Given the description of an element on the screen output the (x, y) to click on. 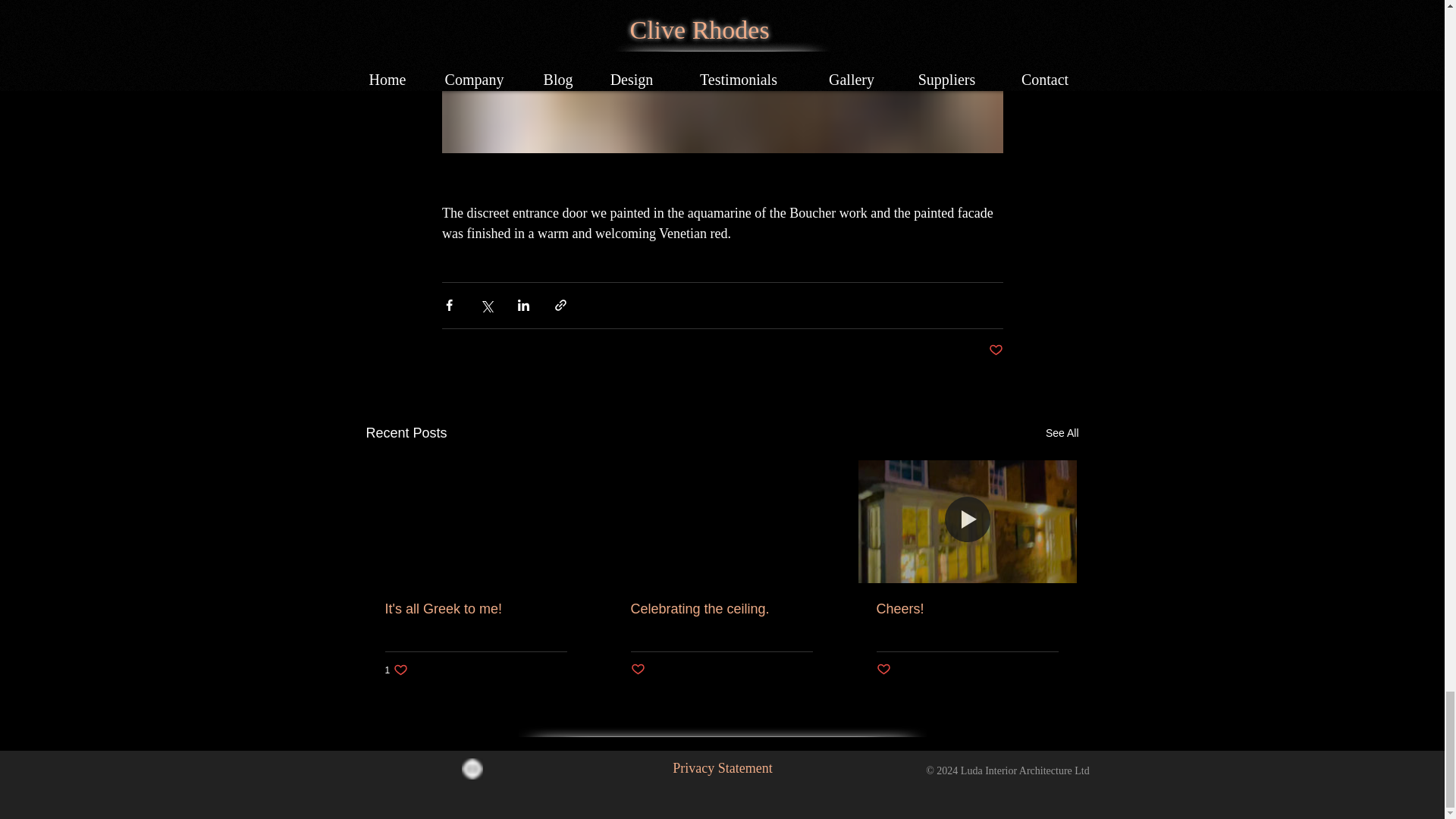
It's all Greek to me! (476, 609)
Celebrating the ceiling. (721, 609)
Privacy Statement (721, 768)
Post not marked as liked (637, 669)
Post not marked as liked (995, 350)
Cheers! (967, 609)
See All (397, 669)
Post not marked as liked (1061, 433)
